Given the description of an element on the screen output the (x, y) to click on. 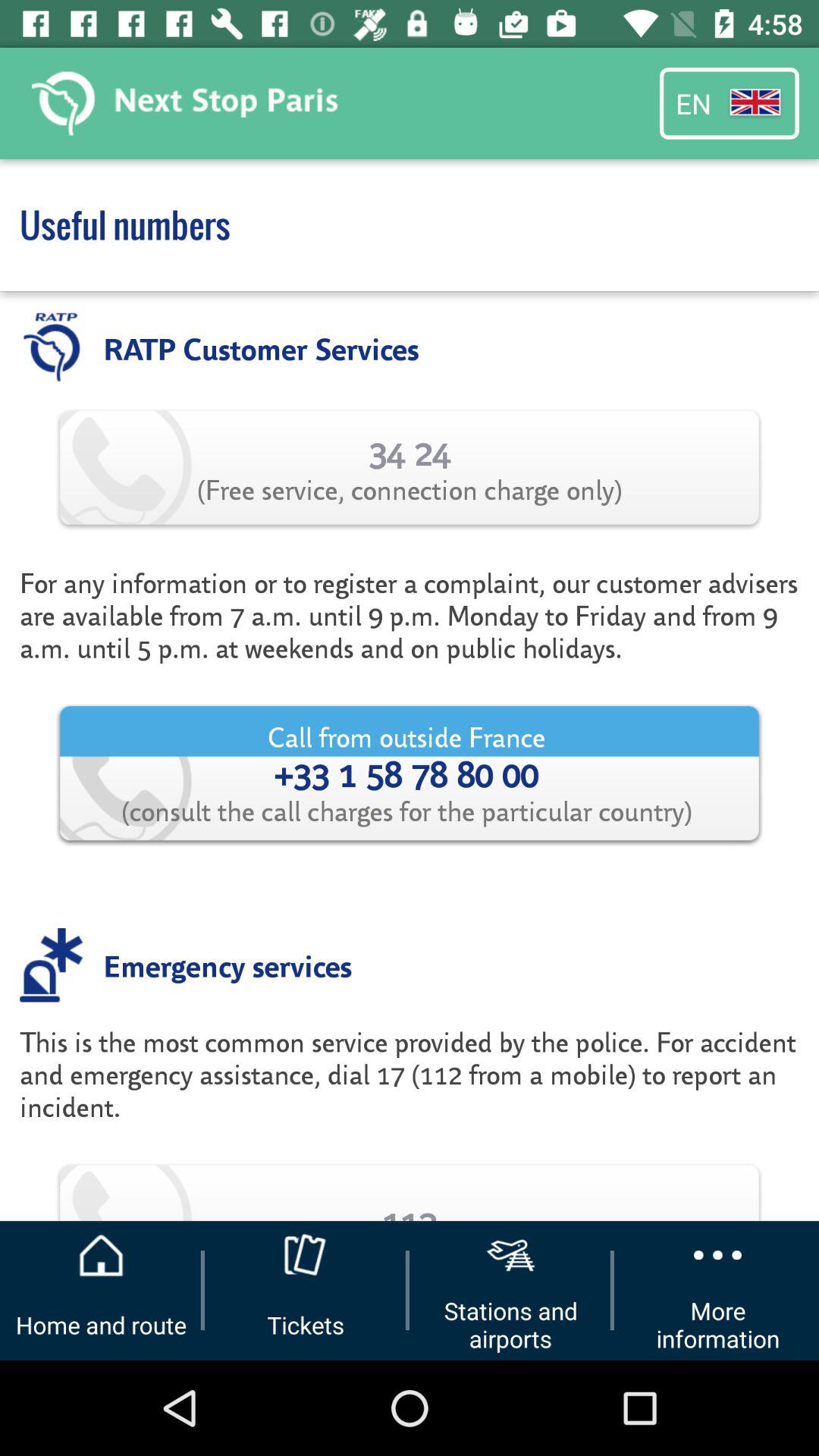
open item below call from outside app (227, 964)
